Given the description of an element on the screen output the (x, y) to click on. 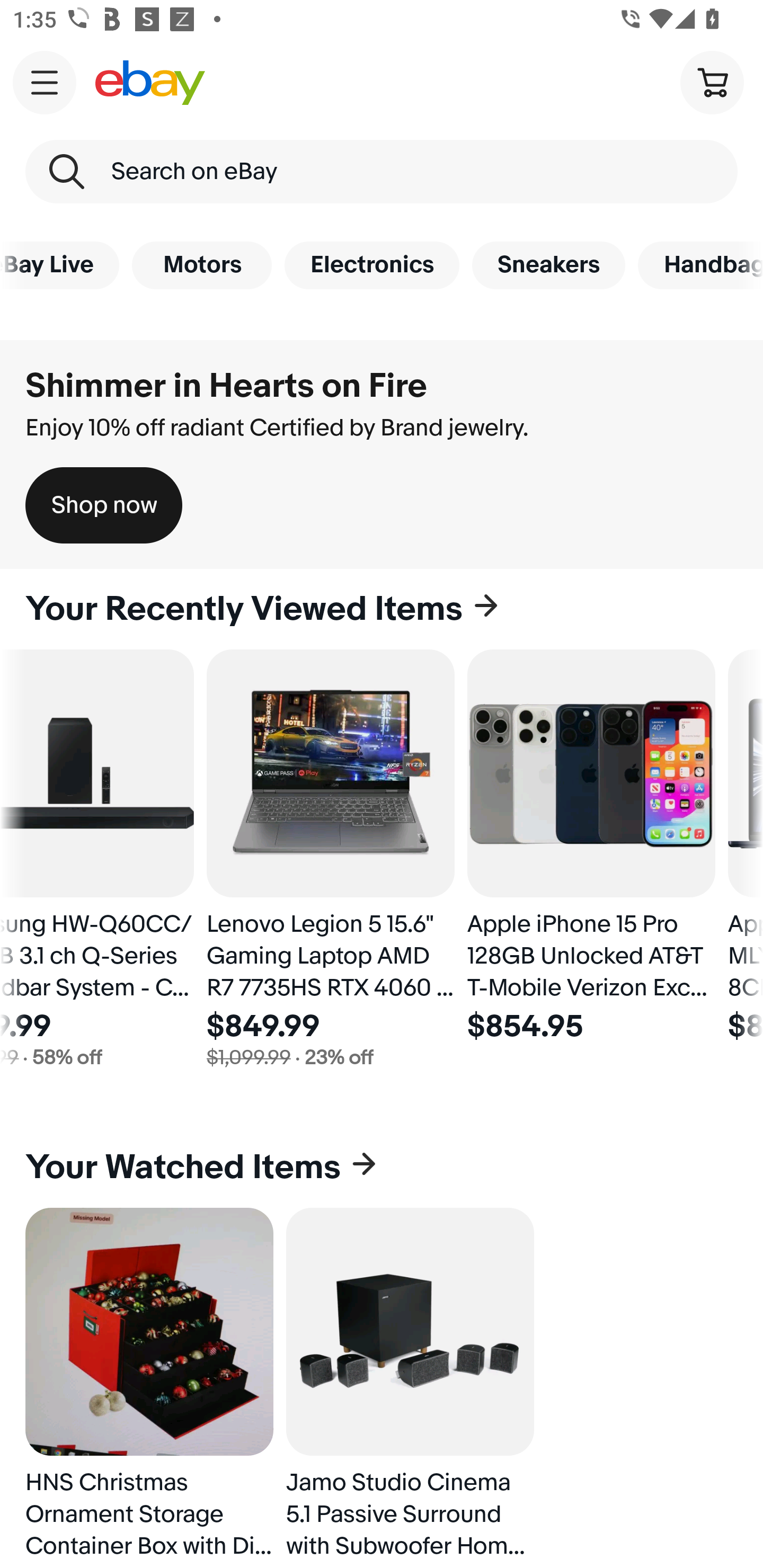
Main navigation, open (44, 82)
Cart button shopping cart (711, 81)
Search on eBay Search Keyword Search on eBay (381, 171)
eBay Live (59, 264)
Motors (201, 264)
Electronics (371, 264)
Sneakers (548, 264)
Handbags (700, 264)
Shimmer in Hearts on Fire (226, 386)
Shop now (103, 505)
Your Recently Viewed Items   (381, 609)
Your Watched Items   (381, 1167)
